Given the description of an element on the screen output the (x, y) to click on. 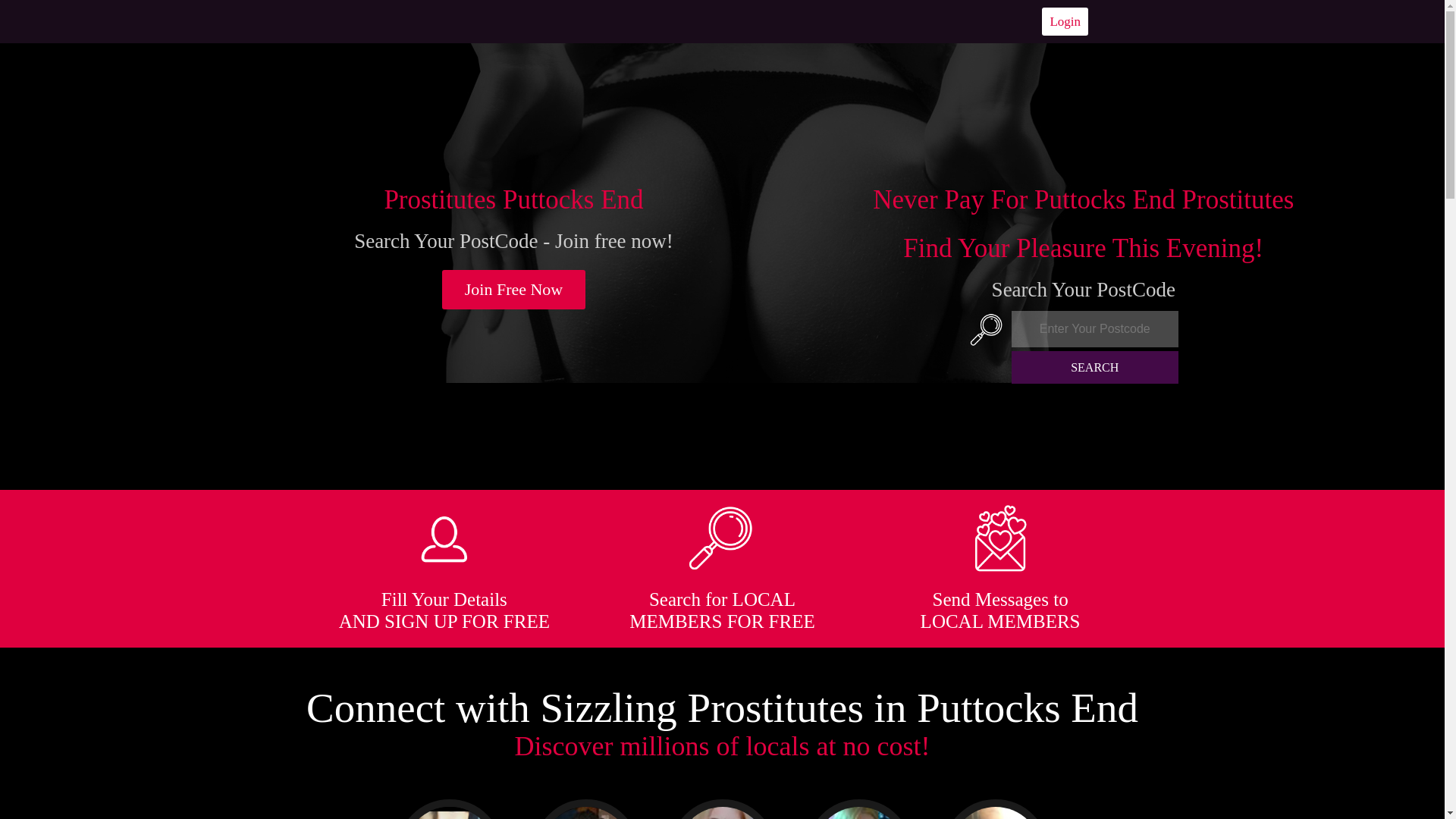
Join Free Now (514, 289)
Login (1064, 21)
Join (514, 289)
SEARCH (1094, 367)
Login (1064, 21)
